Given the description of an element on the screen output the (x, y) to click on. 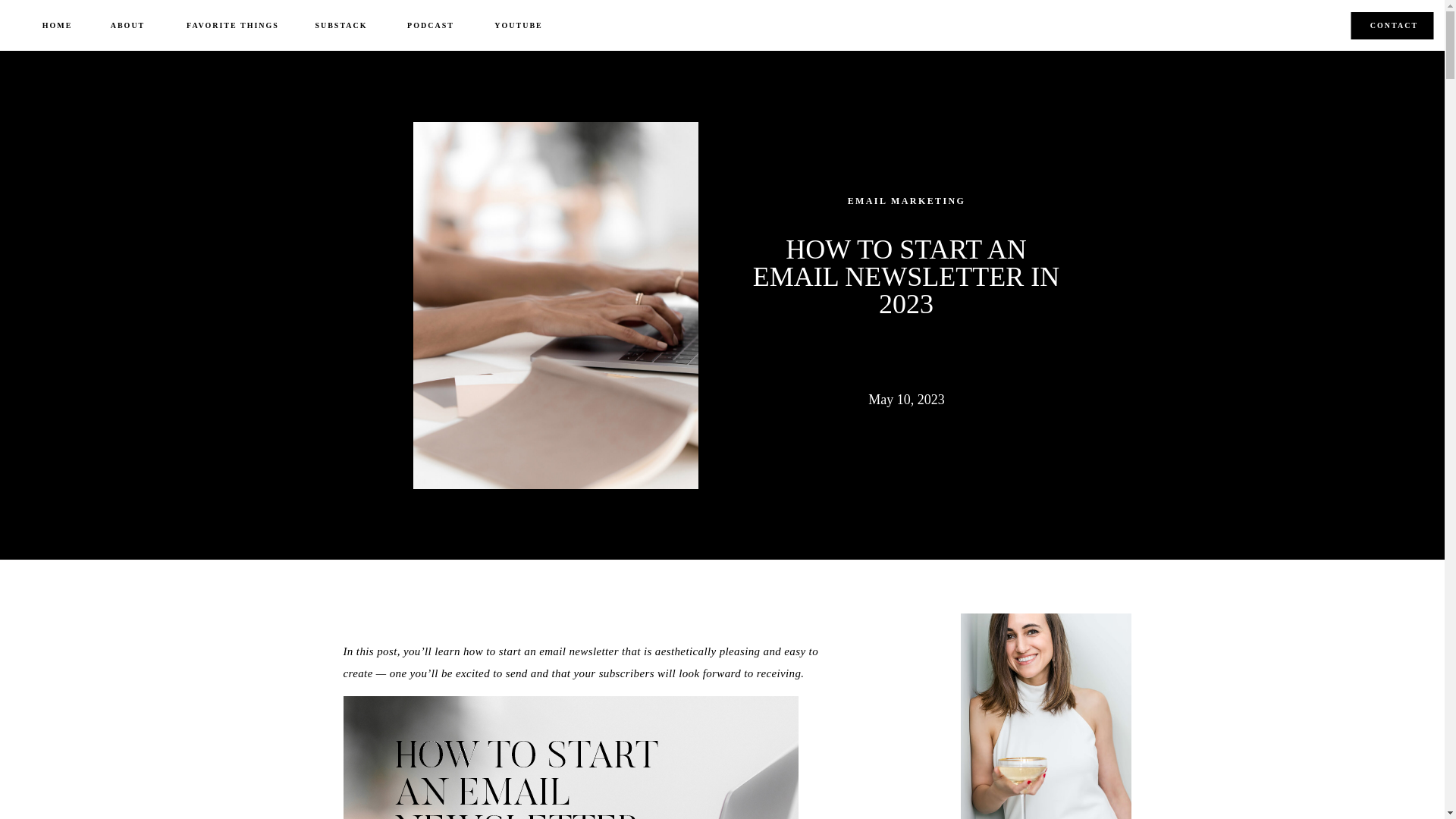
SUBSTACK (341, 25)
EMAIL MARKETING (906, 200)
FAVORITE THINGS (232, 25)
HOME (57, 25)
ABOUT (128, 25)
CONTACT (1394, 27)
YOUTUBE (518, 25)
PODCAST (430, 25)
